Given the description of an element on the screen output the (x, y) to click on. 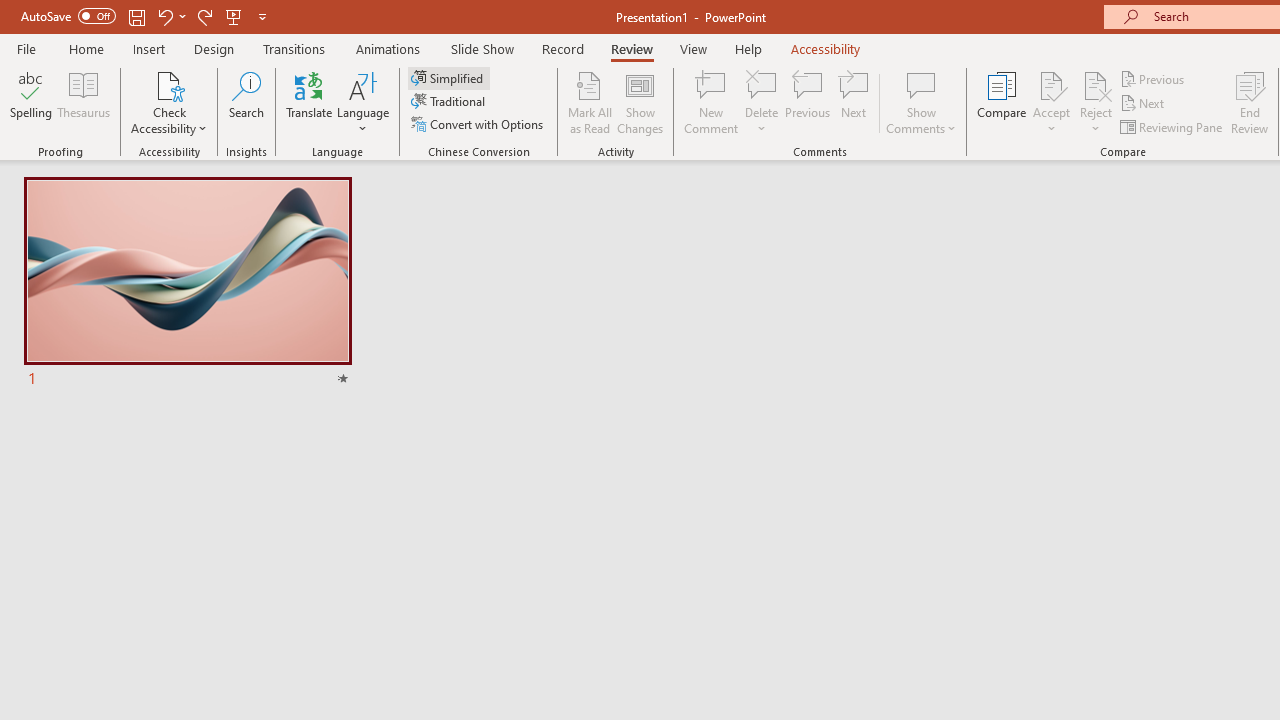
Thesaurus... (83, 102)
Slide (187, 284)
Previous (1153, 78)
Help (748, 48)
Delete (762, 84)
System (10, 11)
Insert (149, 48)
Show Comments (921, 84)
Accessibility (825, 48)
Spelling... (31, 102)
Traditional (449, 101)
Show Changes (639, 102)
Translate (309, 102)
Quick Access Toolbar (145, 16)
Check Accessibility (169, 102)
